Given the description of an element on the screen output the (x, y) to click on. 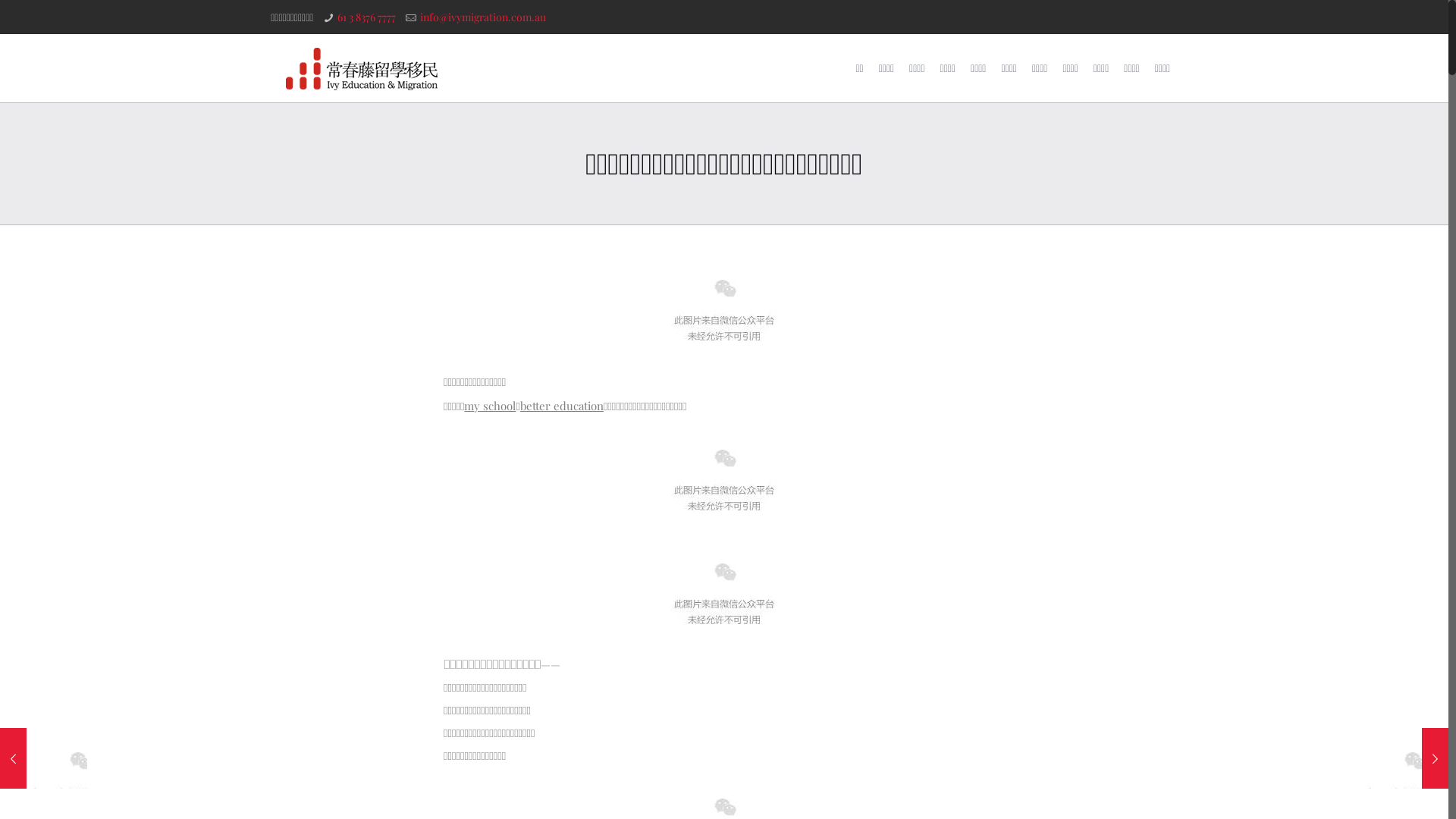
info@ivymigration.com.au Element type: text (483, 16)
61 3 8376 7777 Element type: text (366, 16)
